Given the description of an element on the screen output the (x, y) to click on. 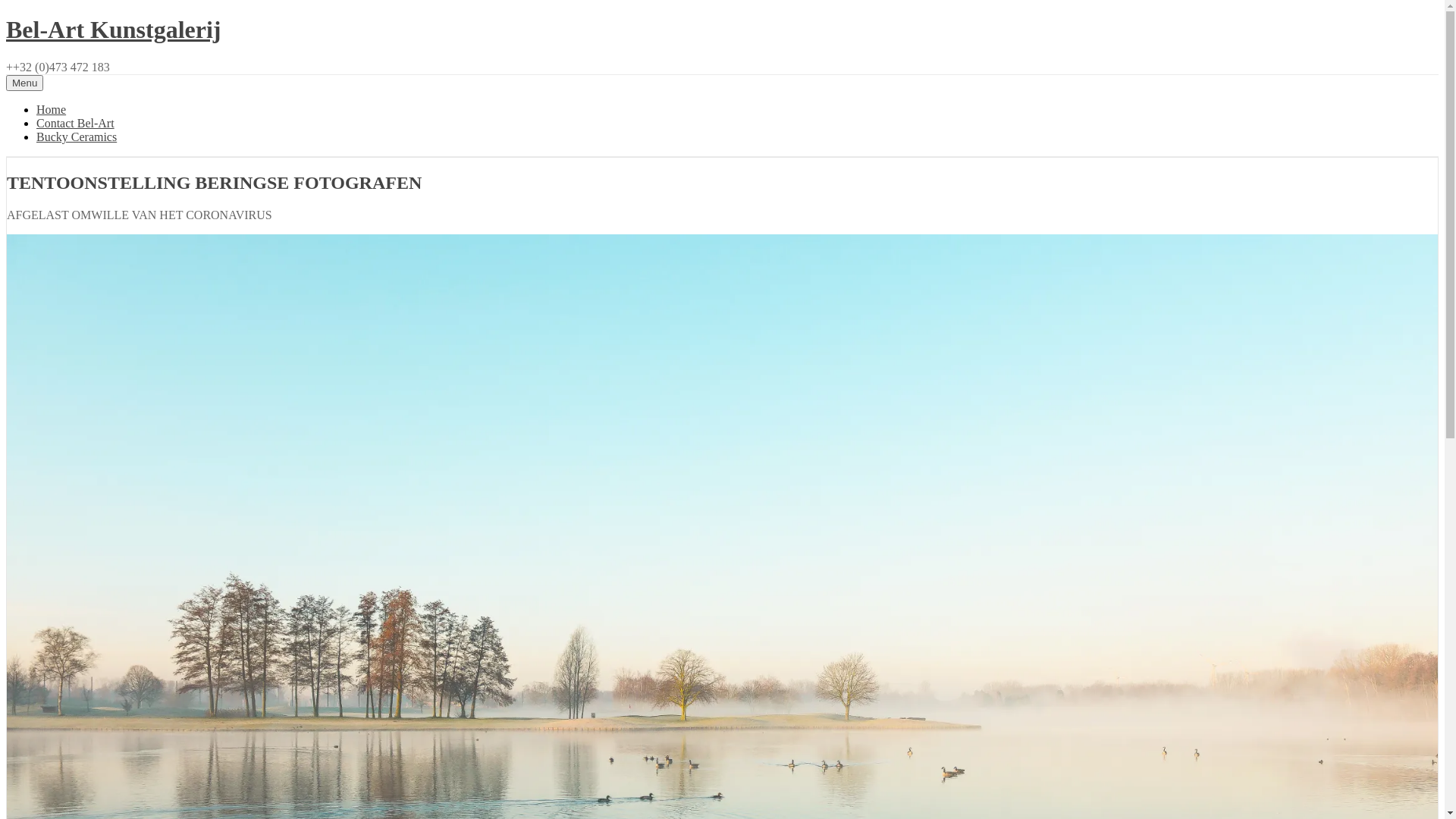
Spring naar inhoud Element type: text (5, 15)
Bel-Art Kunstgalerij Element type: text (113, 29)
Contact Bel-Art Element type: text (75, 122)
Bucky Ceramics Element type: text (76, 136)
Menu Element type: text (24, 83)
Home Element type: text (50, 109)
